Given the description of an element on the screen output the (x, y) to click on. 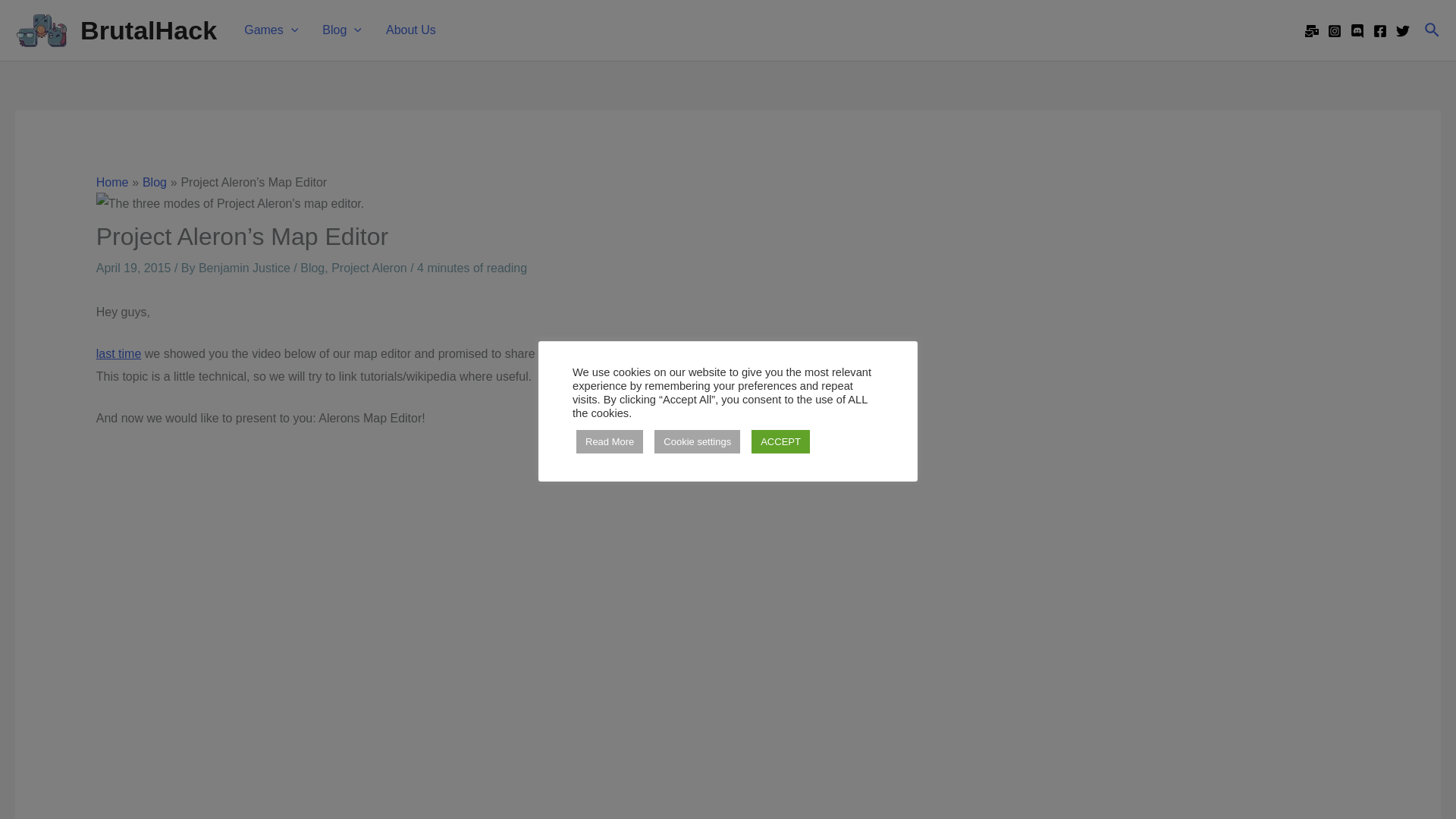
About Us (411, 30)
Blog (342, 30)
View all posts by Benjamin Justice (246, 267)
BrutalHack (148, 30)
Project Aleron (118, 353)
Games (270, 30)
